Given the description of an element on the screen output the (x, y) to click on. 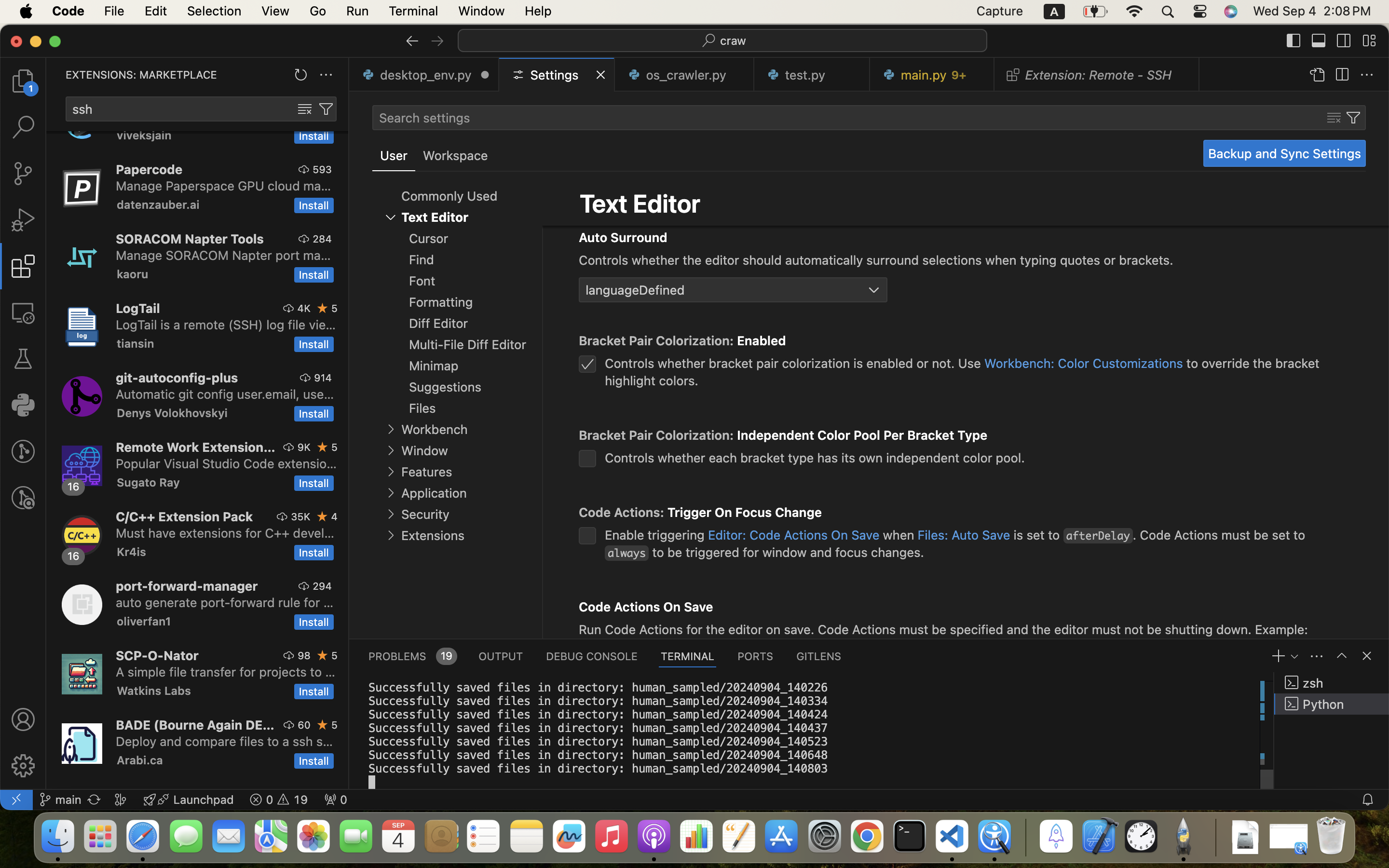
oliverfan1 Element type: AXStaticText (143, 620)
35K Element type: AXStaticText (300, 516)
284 Element type: AXStaticText (321, 238)
 Element type: AXGroup (23, 451)
0  Element type: AXRadioButton (23, 80)
